Given the description of an element on the screen output the (x, y) to click on. 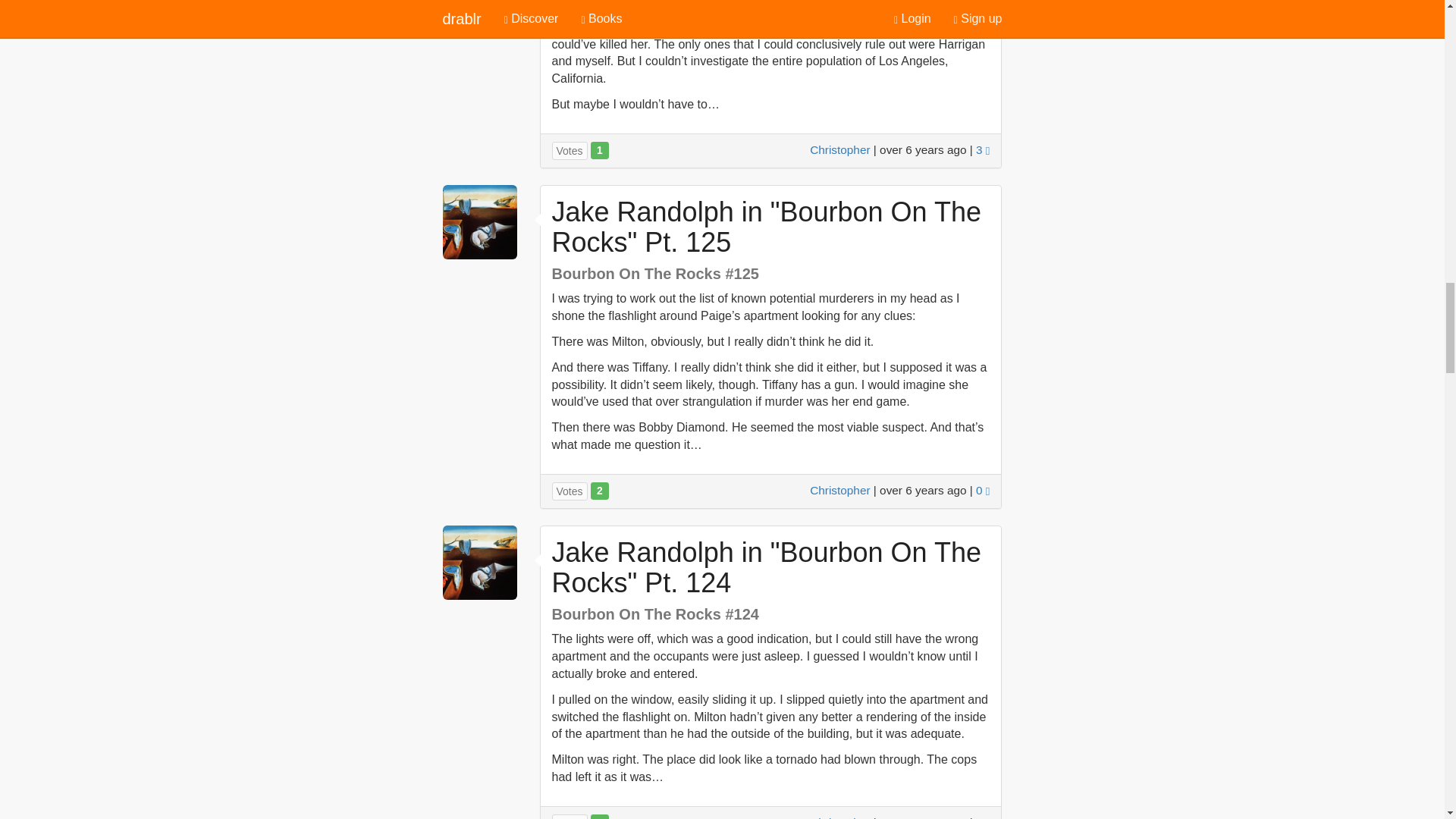
Comments (982, 149)
Comments (982, 817)
Comments (982, 490)
